Given the description of an element on the screen output the (x, y) to click on. 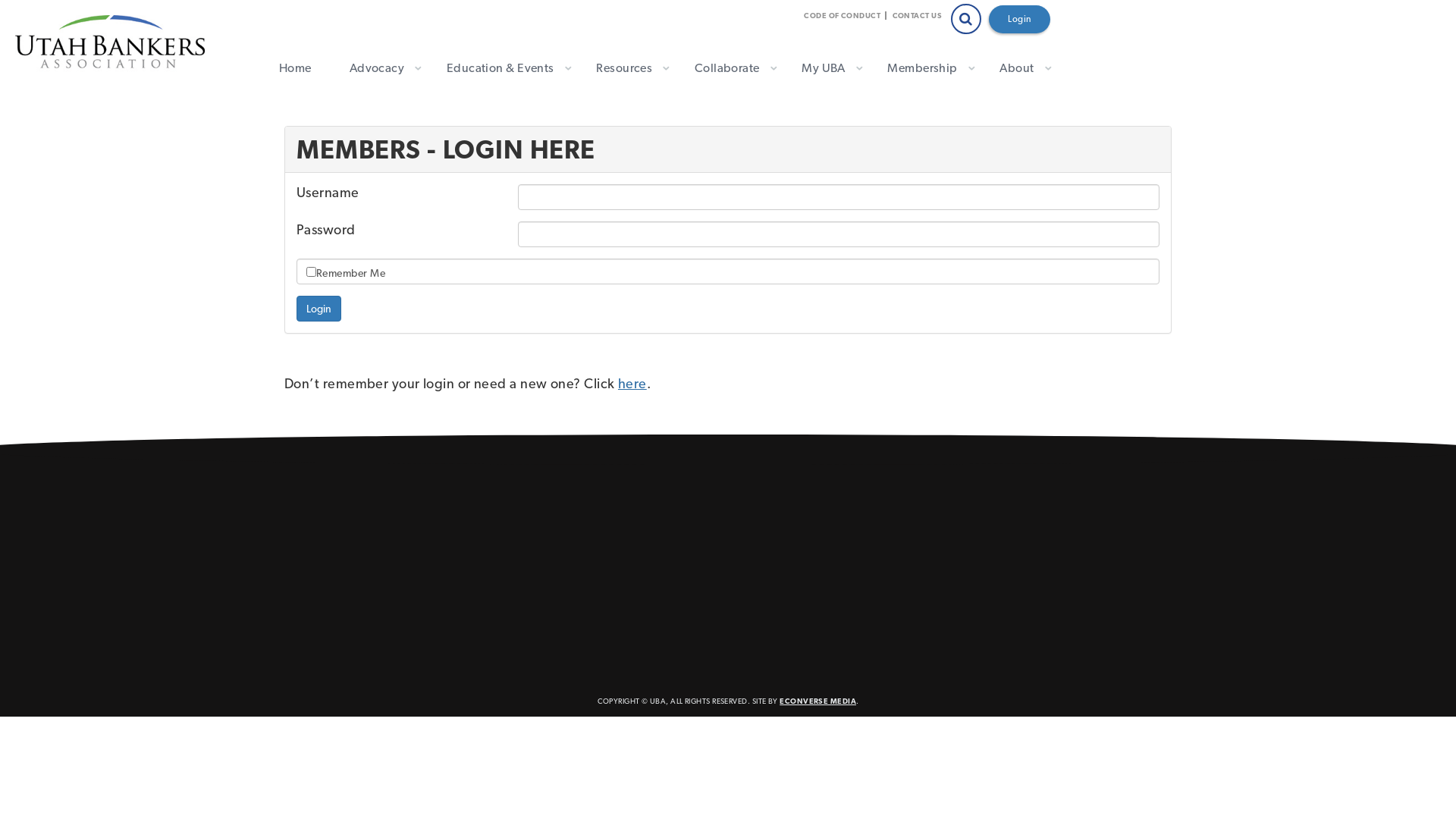
ECONVERSE MEDIA Element type: text (817, 700)
CODE OF CONDUCT Element type: text (844, 15)
Membership Element type: text (924, 68)
Resources Element type: text (626, 68)
Collaborate Element type: text (728, 68)
Useful Links Element type: text (623, 565)
CONTACT US Element type: text (918, 15)
Career Center Element type: text (629, 543)
About Element type: text (1018, 68)
Login Element type: text (318, 308)
Map Element type: text (307, 579)
Advocacy Element type: text (378, 68)
Find or Create a Login Element type: text (651, 499)
Utah Banker Magazine Element type: text (652, 587)
Education & Events Element type: text (502, 68)
Find Your Legislator Element type: text (645, 521)
My UBA Element type: text (825, 68)
here Element type: text (632, 383)
Login Element type: text (1019, 19)
Home Element type: text (295, 68)
